Given the description of an element on the screen output the (x, y) to click on. 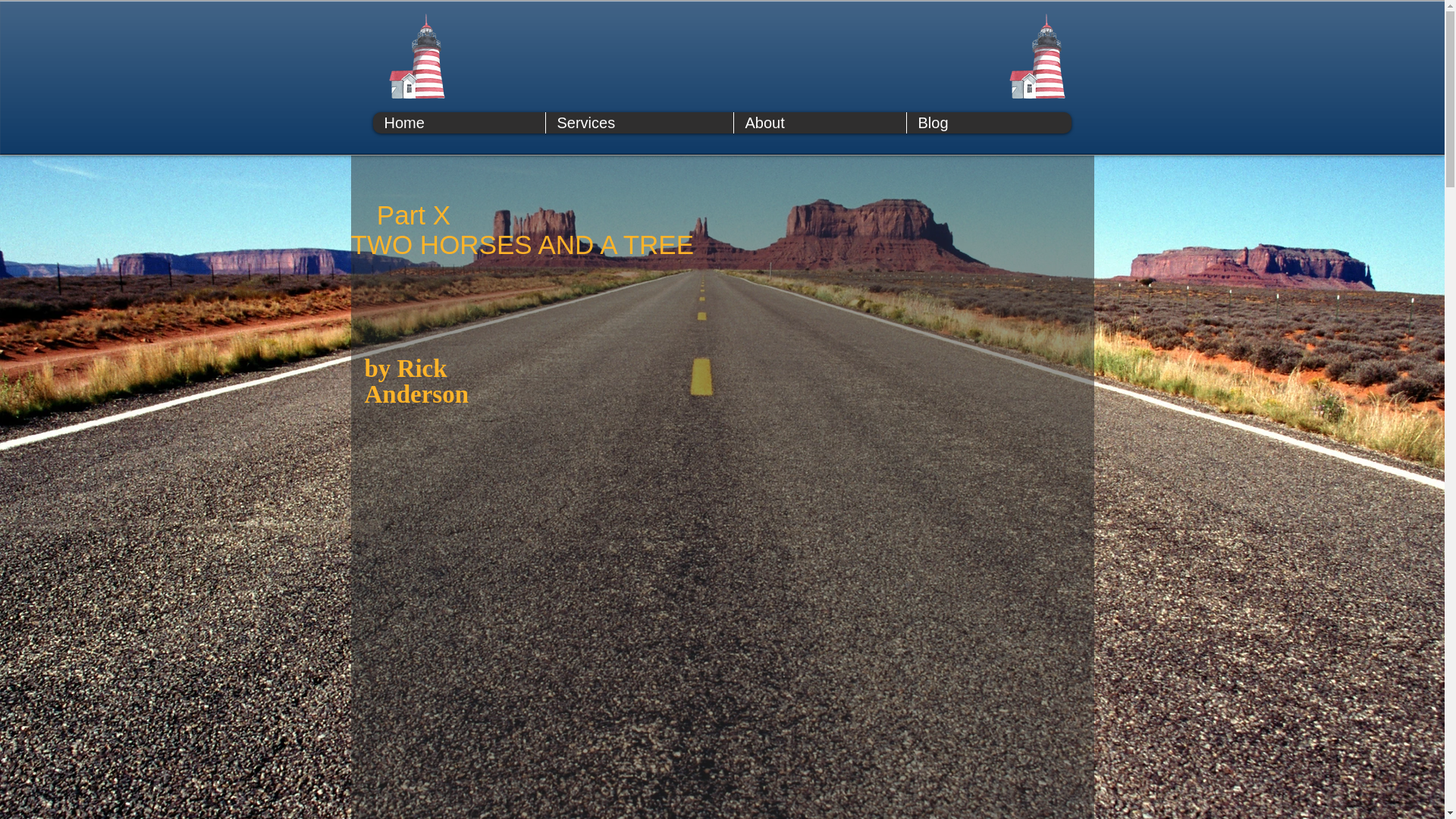
Services (638, 122)
Blog (987, 122)
Home (458, 122)
About (818, 122)
